Given the description of an element on the screen output the (x, y) to click on. 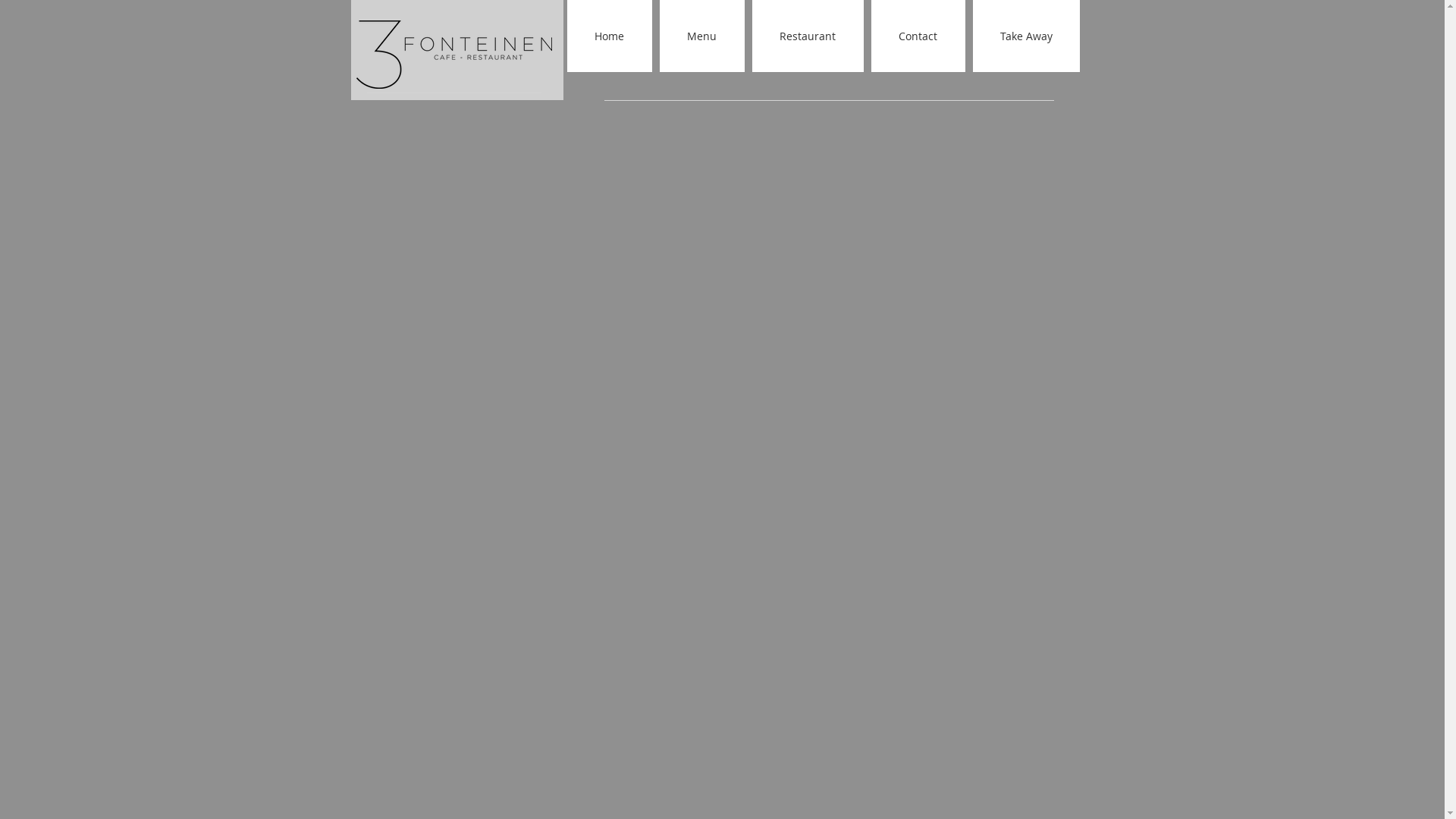
Home Element type: text (609, 36)
Menu Element type: text (701, 36)
Restaurant Element type: text (807, 36)
Take Away Element type: text (1025, 36)
Contact Element type: text (917, 36)
